Given the description of an element on the screen output the (x, y) to click on. 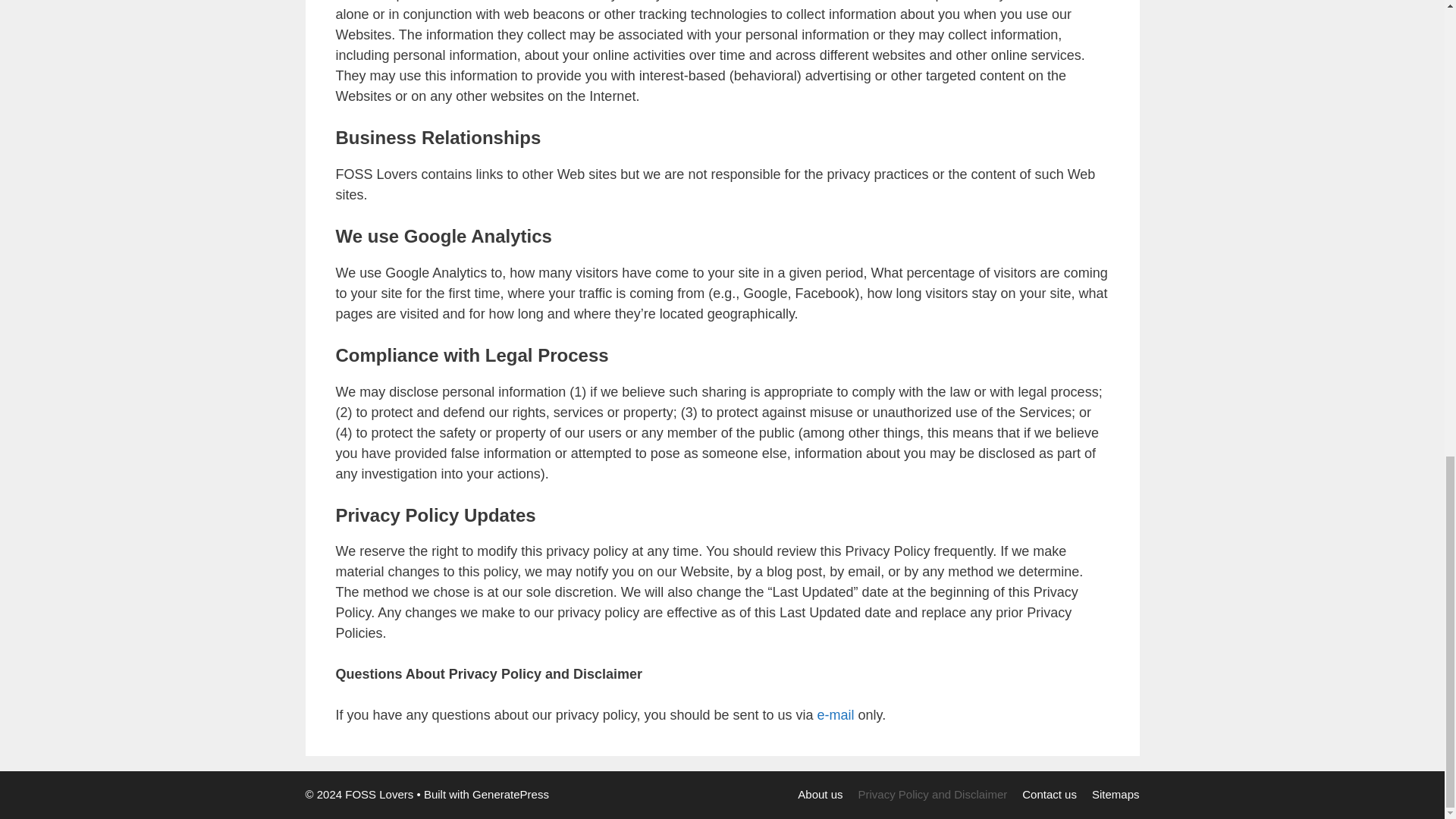
Privacy Policy and Disclaimer (933, 793)
Sitemaps (1116, 793)
Scroll back to top (1406, 500)
GeneratePress (509, 793)
e-mail (835, 714)
About us (820, 793)
Contact us (1049, 793)
